Given the description of an element on the screen output the (x, y) to click on. 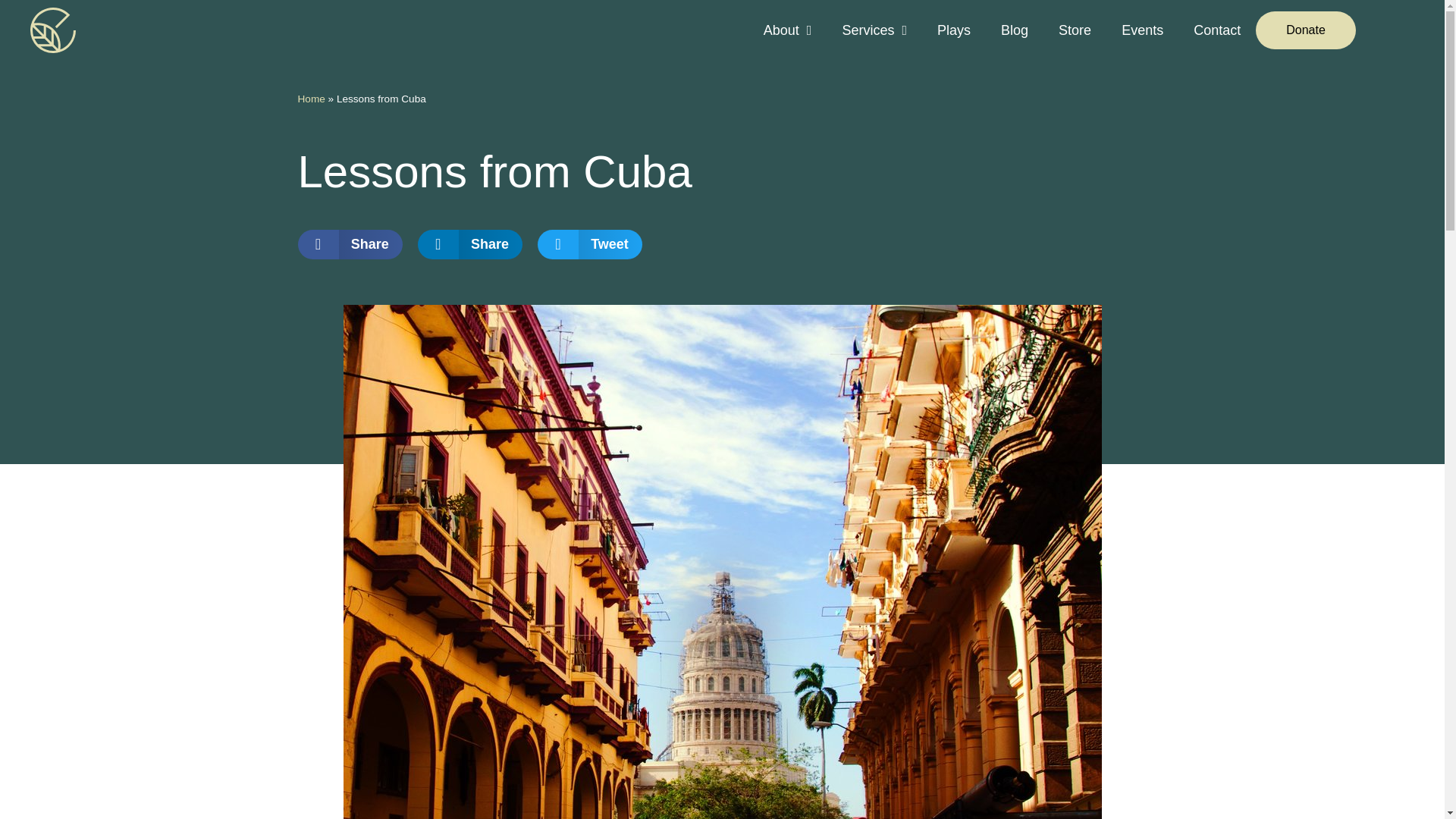
Store (1074, 30)
About (787, 30)
Events (1141, 30)
Blog (1014, 30)
Contact (1216, 30)
Plays (953, 30)
Services (874, 30)
Donate (1305, 30)
